Given the description of an element on the screen output the (x, y) to click on. 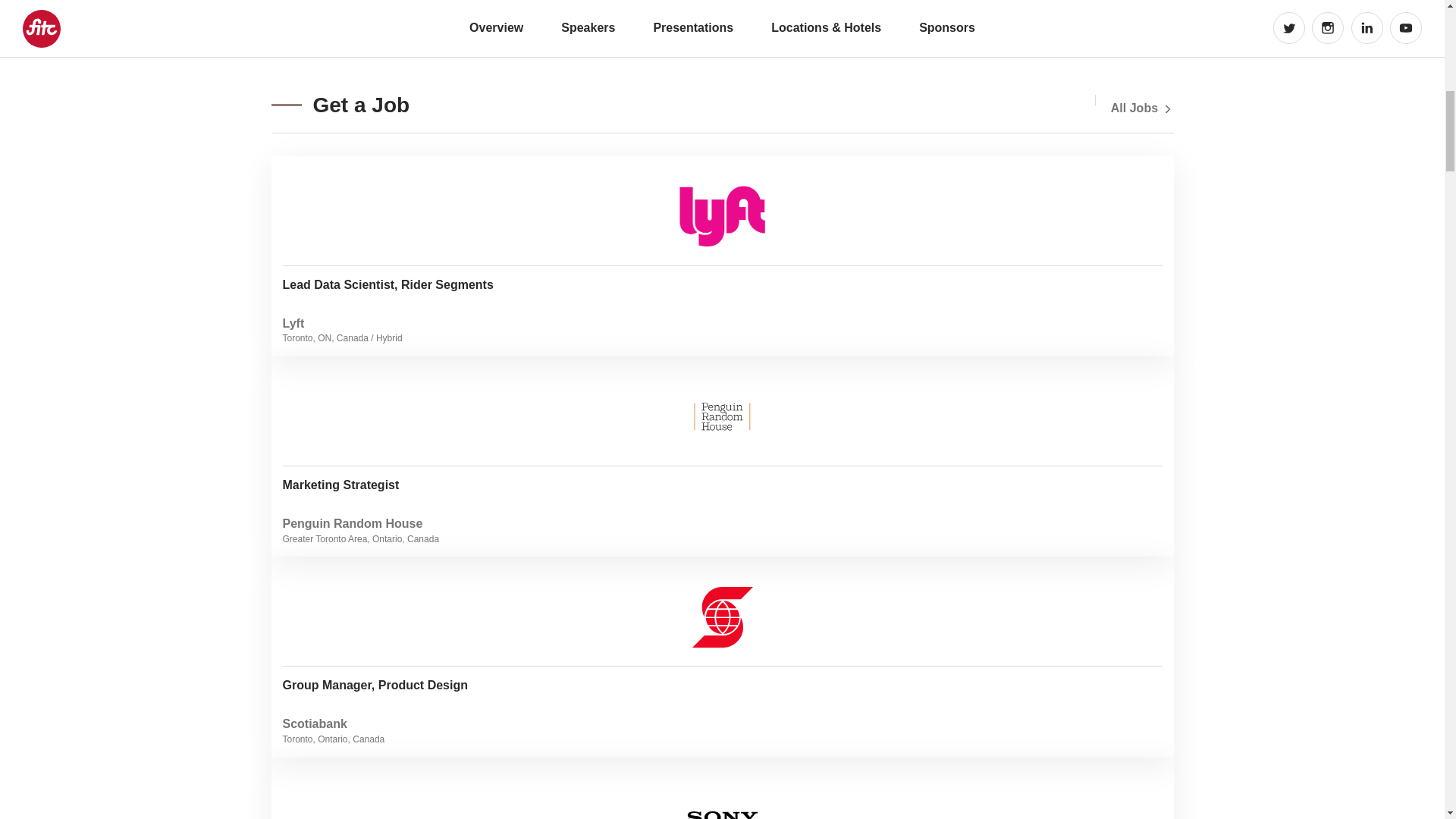
All Jobs (1141, 107)
